Given the description of an element on the screen output the (x, y) to click on. 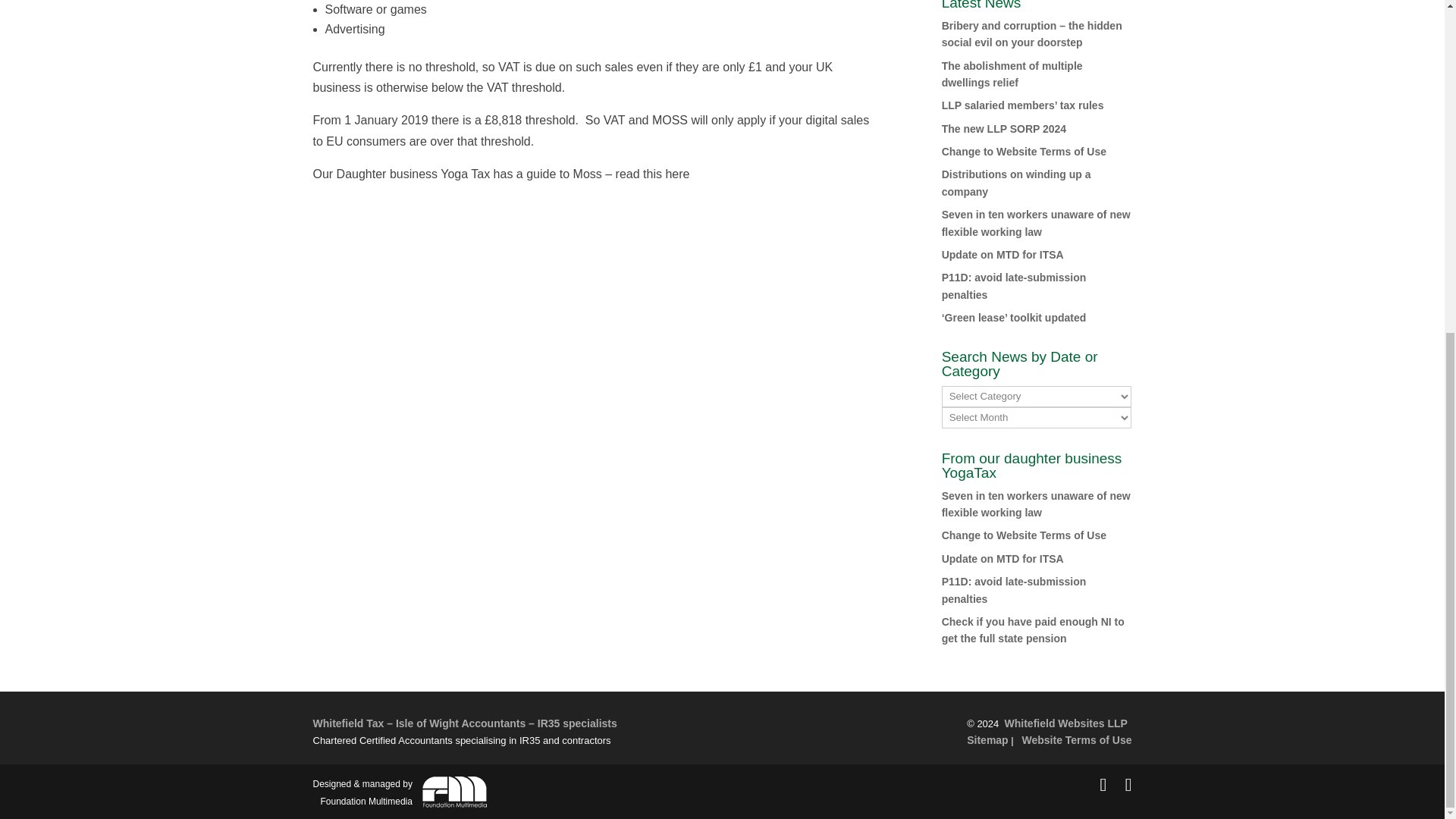
Whitefield Websites LLP (1065, 723)
Change to Website Terms of Use (1024, 535)
Website Terms of Use (1077, 739)
Sitemap (986, 739)
Web Designer Isle of Wight (400, 791)
Update on MTD for ITSA (1003, 558)
Seven in ten workers unaware of new flexible working law (1036, 222)
Change to Website Terms of Use (1024, 151)
Update on MTD for ITSA (1003, 254)
The new LLP SORP 2024 (1003, 128)
